Given the description of an element on the screen output the (x, y) to click on. 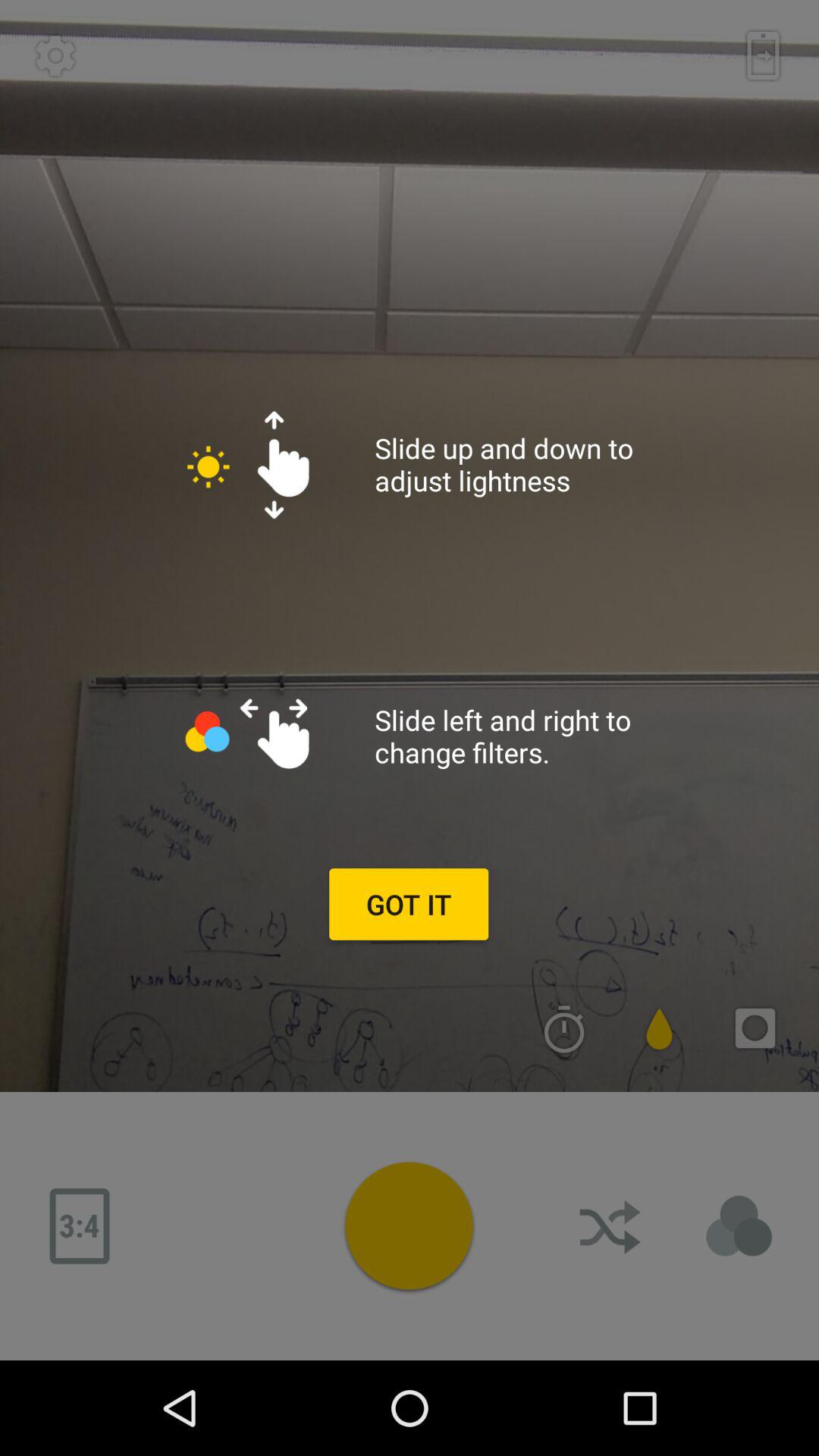
tap for timer (563, 1028)
